Given the description of an element on the screen output the (x, y) to click on. 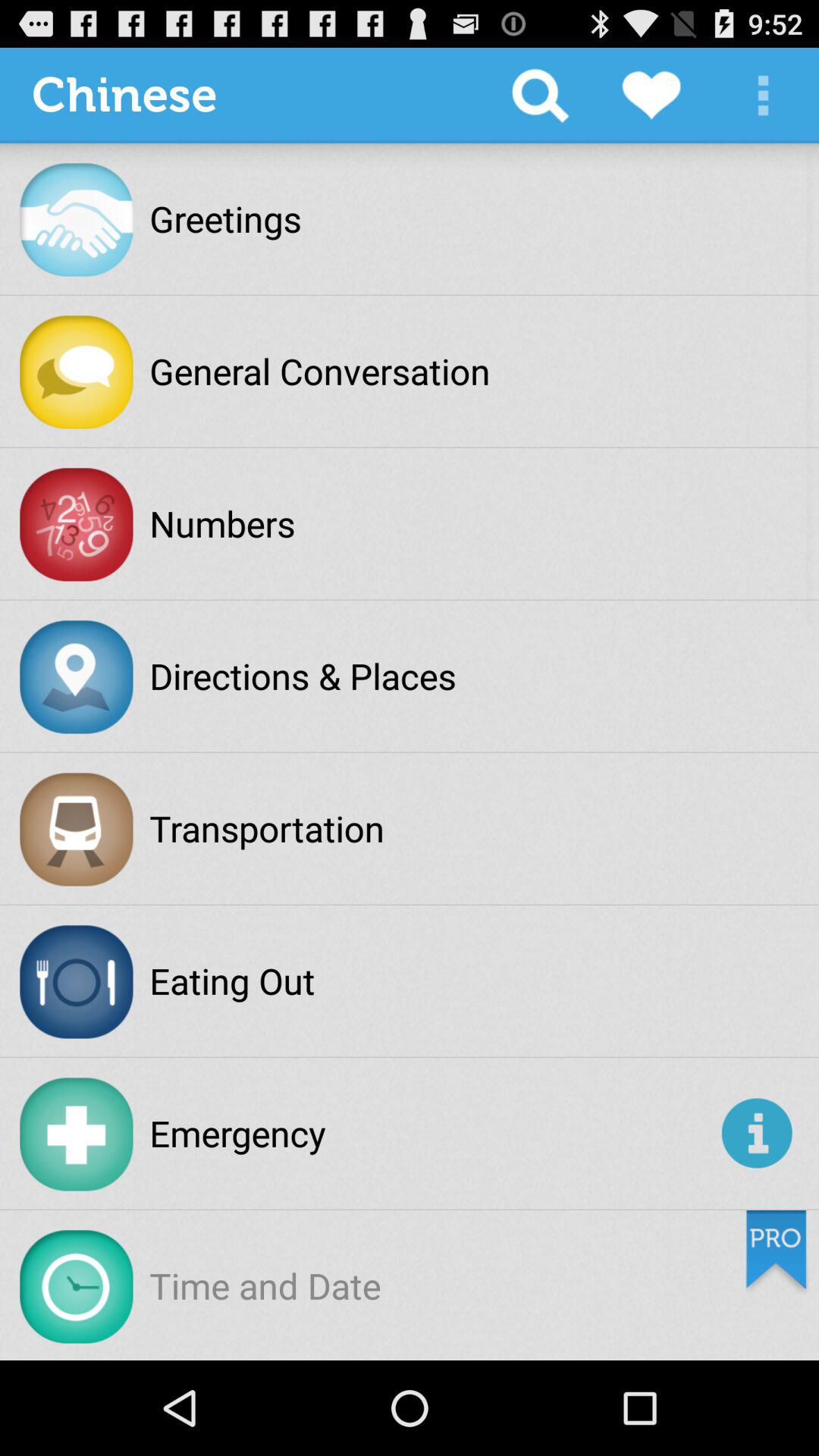
tap the general conversation item (319, 370)
